Given the description of an element on the screen output the (x, y) to click on. 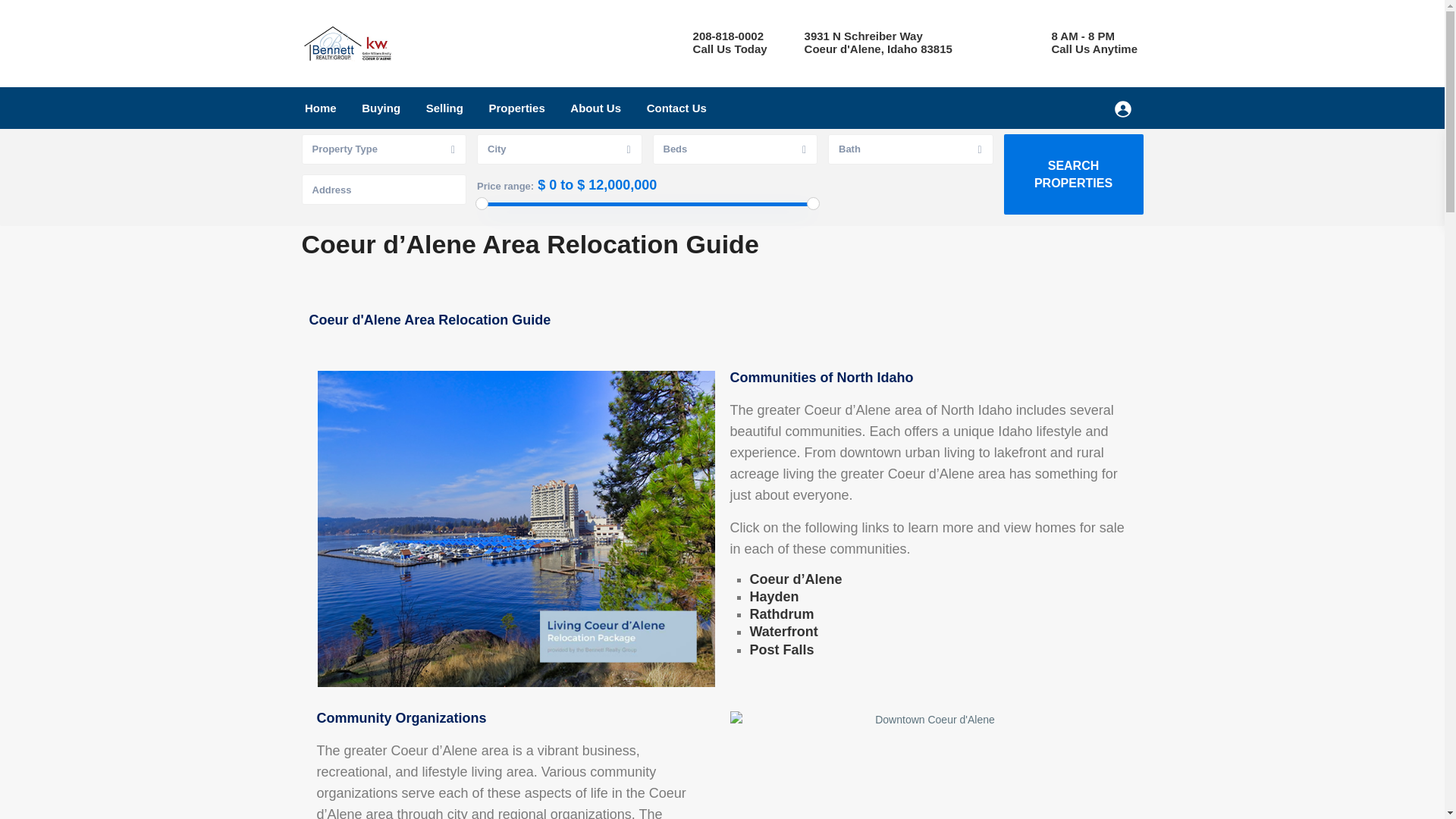
Coeur d'Alene Area Relocation Guide 1 (515, 528)
SEARCH PROPERTIES (1073, 174)
Buying (381, 107)
Home (320, 107)
Coeur d'Alene Area Relocation Guide 8 (927, 765)
